Given the description of an element on the screen output the (x, y) to click on. 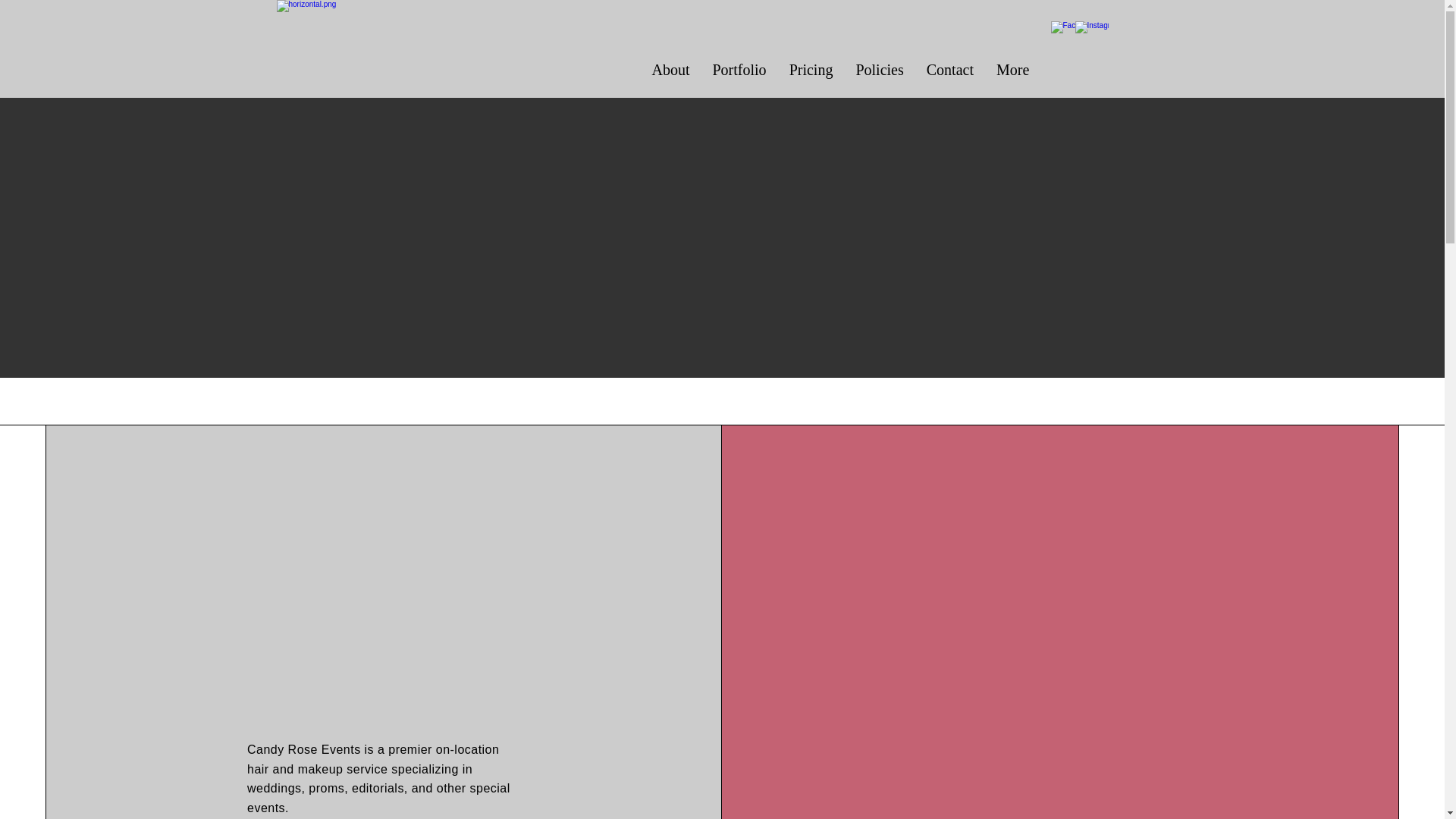
Policies (879, 71)
Contact (950, 71)
Pricing (810, 71)
Portfolio (738, 71)
About (670, 71)
